Given the description of an element on the screen output the (x, y) to click on. 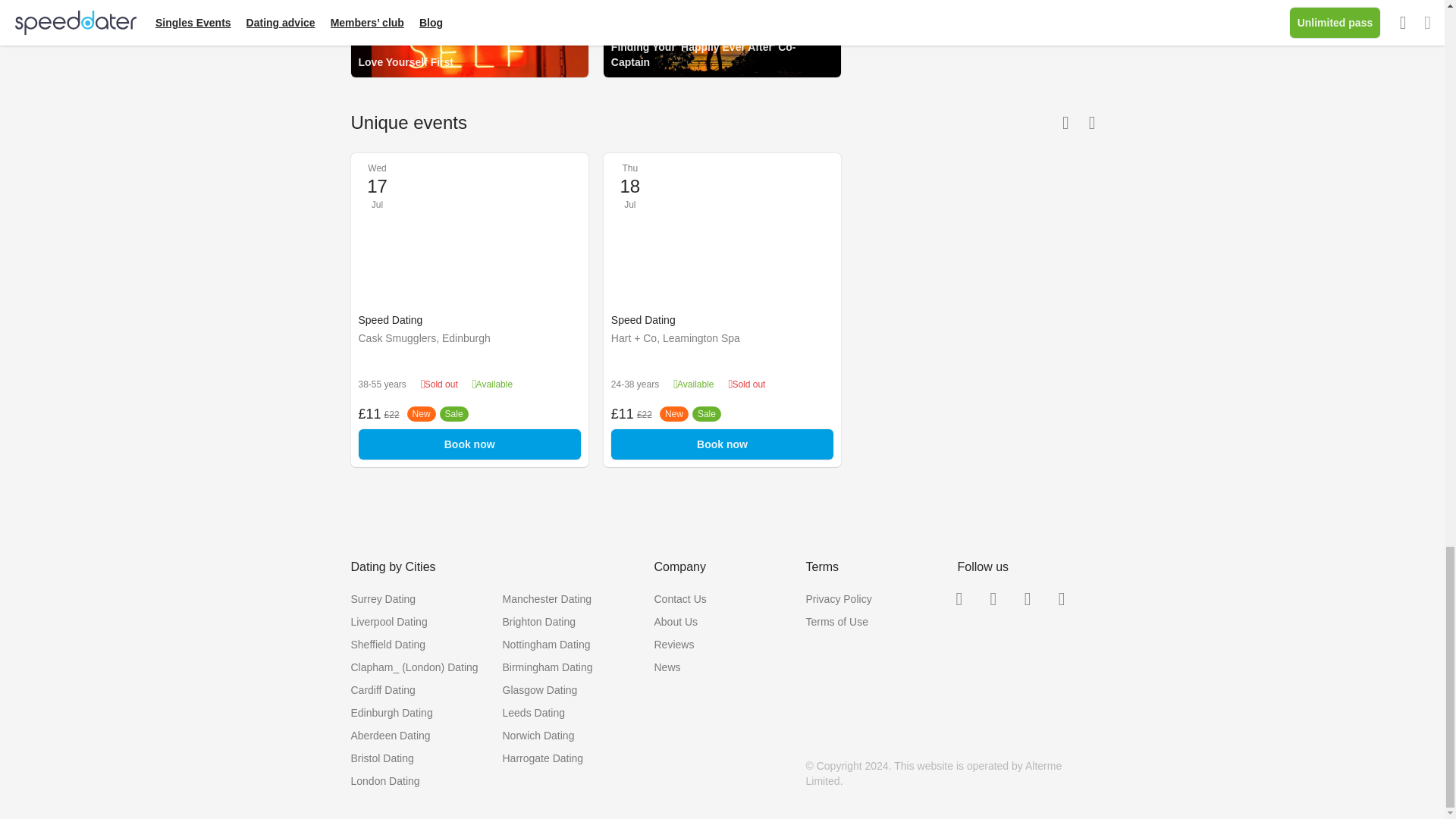
Norwich Dating (537, 735)
Glasgow Dating (539, 689)
Leeds Dating (533, 712)
Liverpool Dating (388, 621)
Nottingham Dating (545, 644)
Book now (721, 444)
Edinburgh Dating (391, 712)
Harrogate Dating (542, 758)
Book now (468, 444)
News (666, 667)
Cardiff Dating (382, 689)
Privacy Policy (837, 598)
Bristol Dating (381, 758)
Sheffield Dating (387, 644)
Birmingham Dating (547, 667)
